Given the description of an element on the screen output the (x, y) to click on. 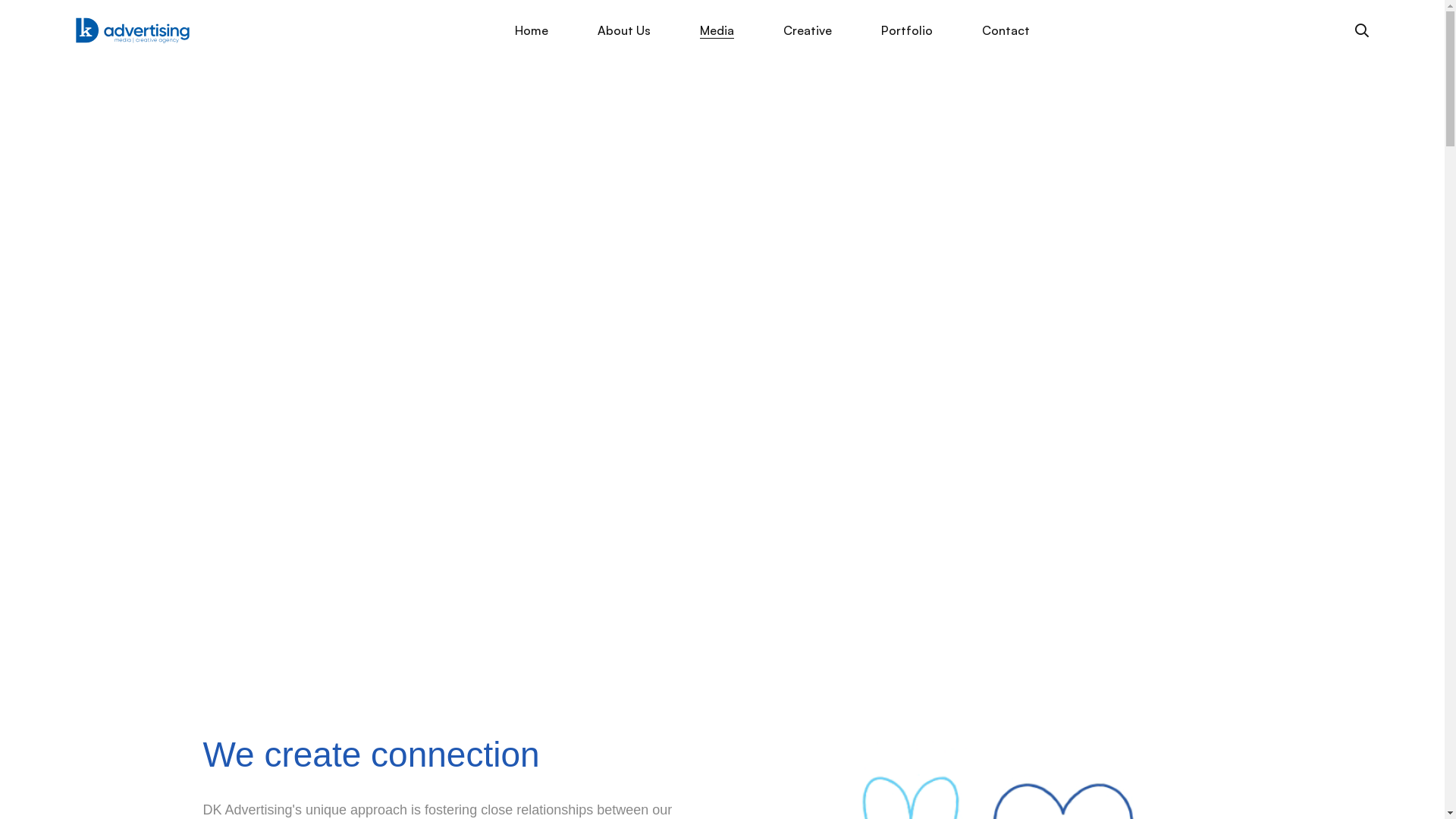
Creative Element type: text (807, 30)
Home Element type: text (531, 30)
Contact Element type: text (1005, 30)
About Us Element type: text (623, 30)
Portfolio Element type: text (906, 30)
Media Element type: text (716, 30)
